Given the description of an element on the screen output the (x, y) to click on. 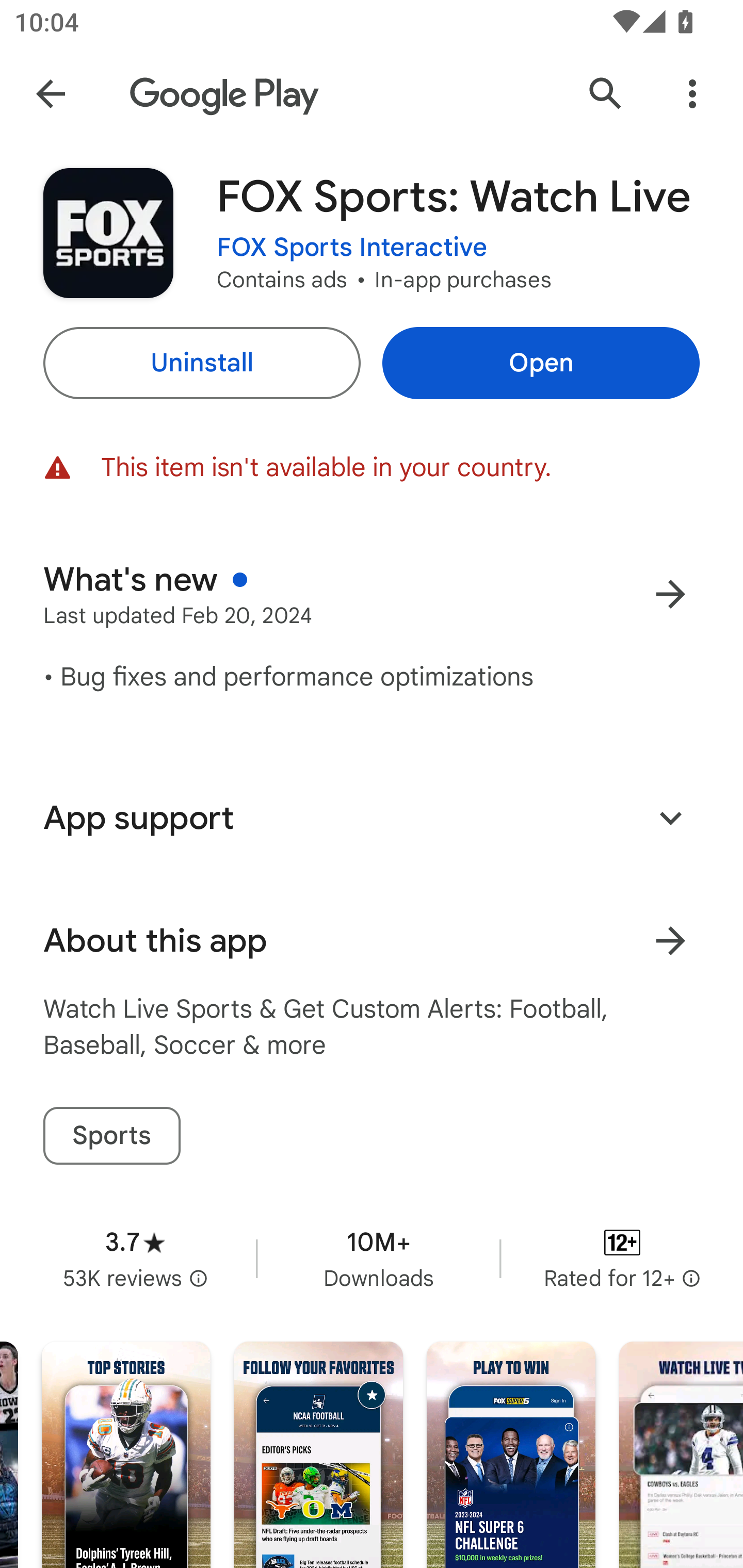
Navigate up (50, 93)
Search Google Play (605, 93)
More Options (692, 93)
FOX Sports Interactive (351, 247)
Uninstall (201, 362)
Open (540, 362)
More results for What's new (670, 594)
App support Expand (371, 817)
Expand (670, 817)
About this app Learn more About this app (371, 940)
Learn more About this app (670, 940)
Sports tag (111, 1135)
Average rating 3.7 stars in 53 thousand reviews (135, 1258)
Content rating Rated for 12+ (622, 1258)
Screenshot "1" of "5" (125, 1455)
Screenshot "2" of "5" (318, 1455)
Screenshot "3" of "5" (510, 1455)
Screenshot "4" of "5" (680, 1455)
